Given the description of an element on the screen output the (x, y) to click on. 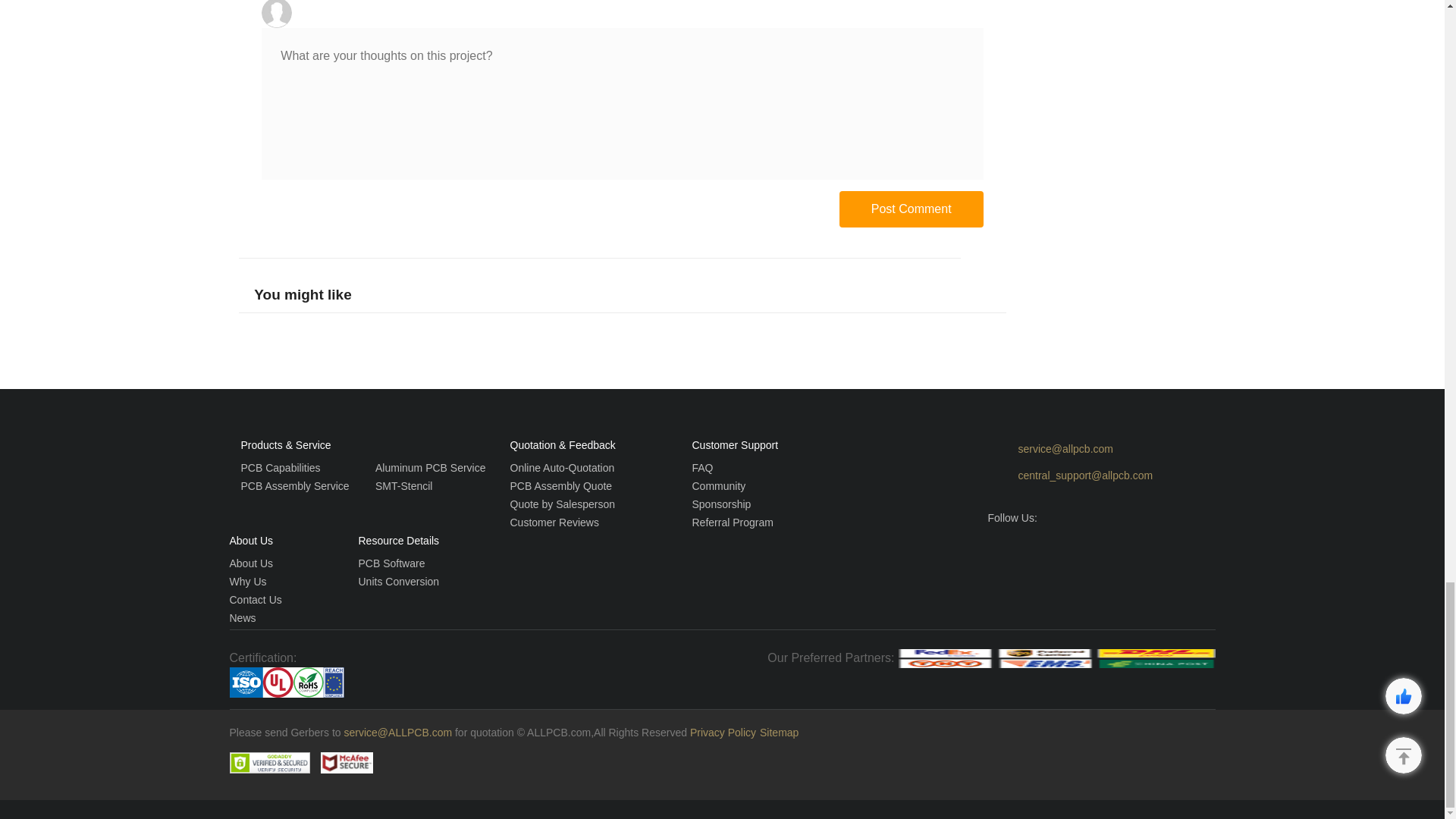
Follow us on twitter (1056, 546)
Follow us on tumblr (1085, 546)
Follow us on youtube (1027, 546)
Follow us on facebook (998, 546)
Follow us on linkedin (1113, 546)
Complaint or Suggestion (1100, 476)
